Given the description of an element on the screen output the (x, y) to click on. 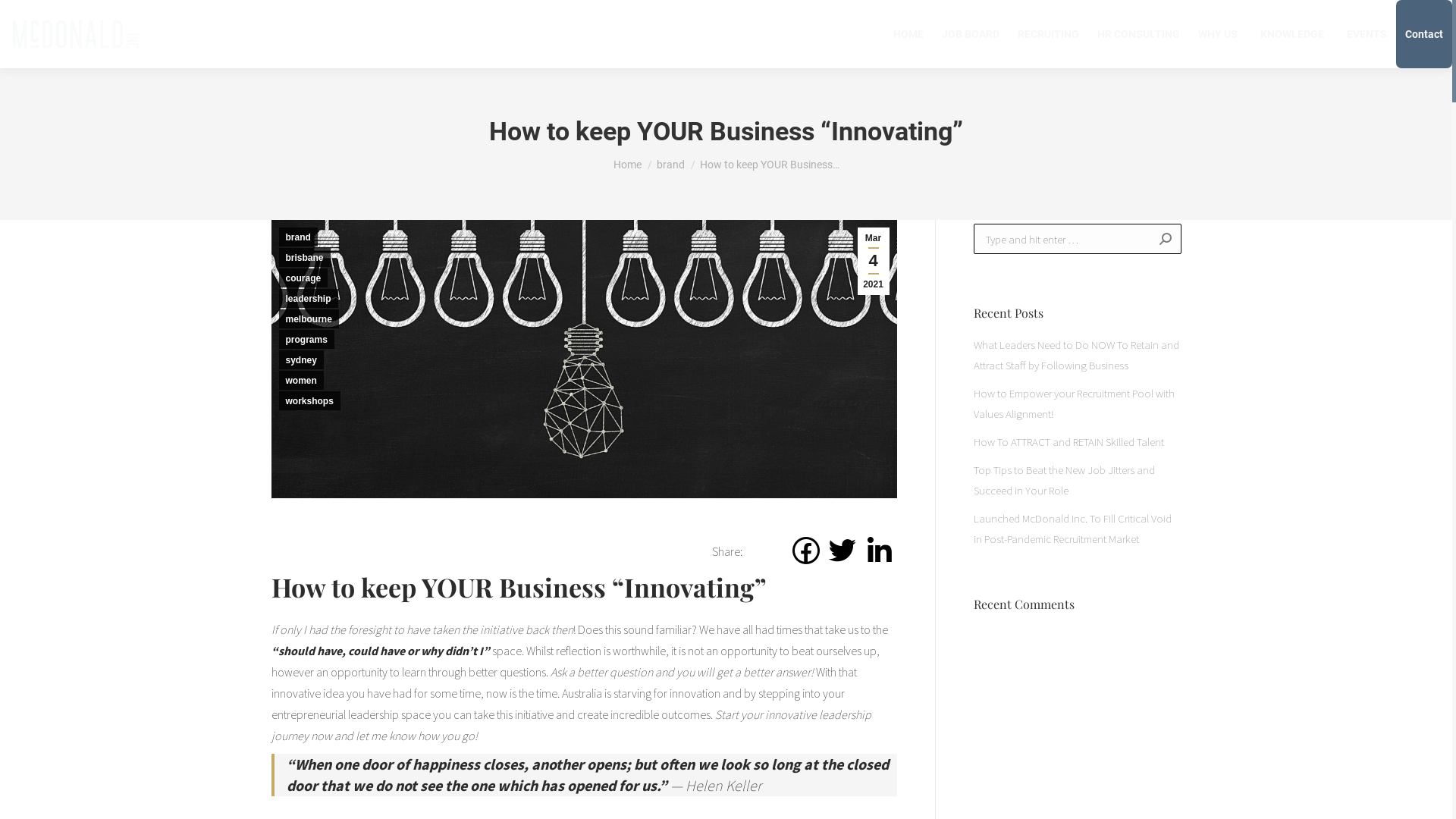
WHY US Element type: text (1217, 34)
Post Comment Element type: text (50, 16)
workshops Element type: text (309, 400)
sydney Element type: text (301, 359)
Mar
4
2021 Element type: text (872, 260)
brand Element type: text (670, 164)
HR CONSULTING Element type: text (1138, 34)
Untitled design (2) copy 5 Element type: hover (584, 358)
brisbane Element type: text (304, 256)
Go! Element type: text (1157, 238)
women Element type: text (301, 379)
brand Element type: text (298, 236)
HOME Element type: text (908, 34)
How to Empower your Recruitment Pool with Values Alignment! Element type: text (1077, 402)
JOB BOARD Element type: text (970, 34)
EVENTS Element type: text (1366, 34)
Home Element type: text (626, 164)
KNOWLEDGE Element type: text (1292, 34)
courage Element type: text (303, 277)
programs Element type: text (306, 338)
RECRUITING Element type: text (1048, 34)
melbourne Element type: text (308, 318)
Contact Element type: text (1424, 34)
leadership Element type: text (308, 297)
How To ATTRACT and RETAIN Skilled Talent Element type: text (1068, 441)
